Given the description of an element on the screen output the (x, y) to click on. 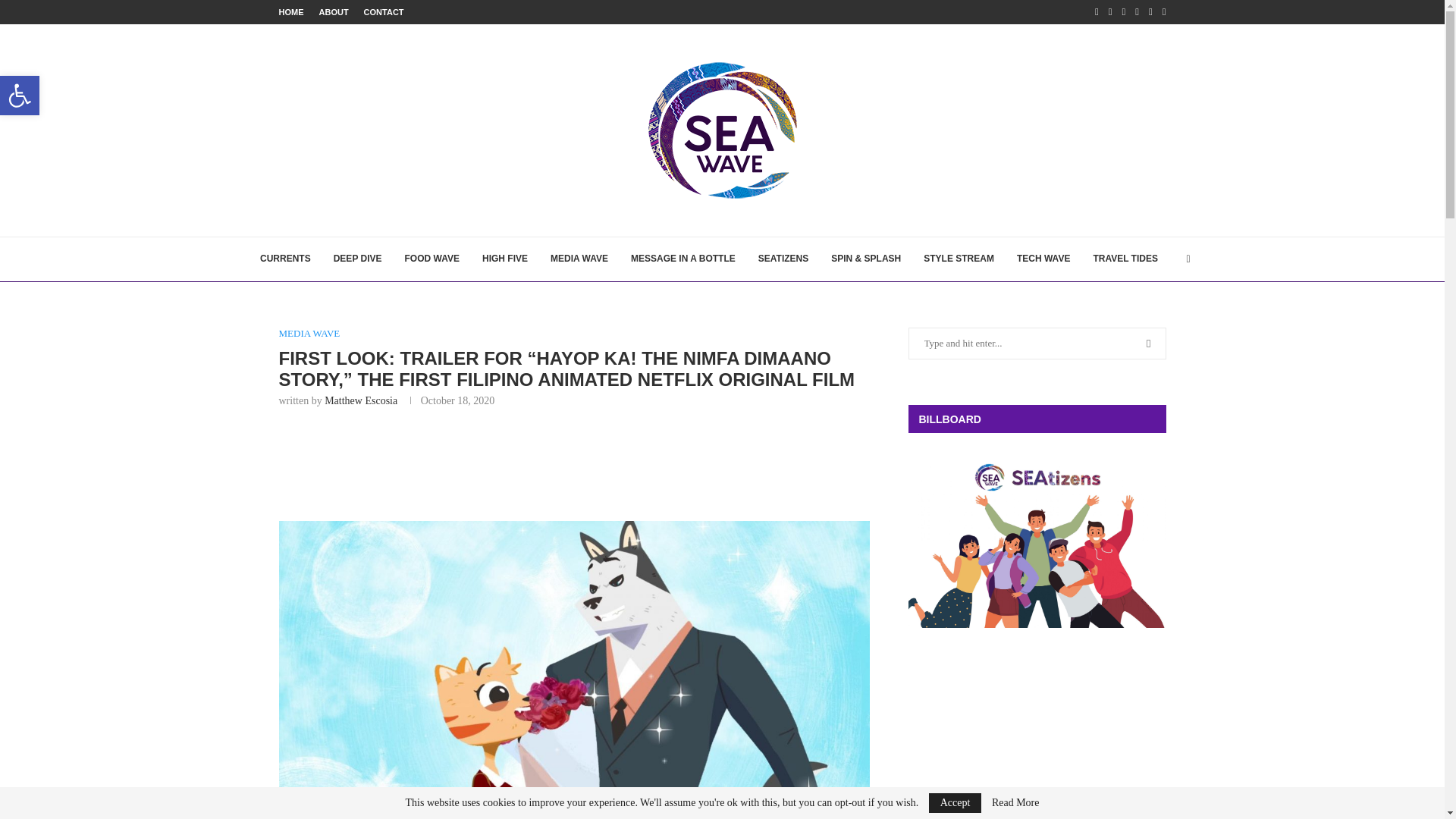
DEEP DIVE (357, 258)
STYLE STREAM (959, 258)
MEDIA WAVE (309, 333)
Entertainment (579, 258)
TECH WAVE (1043, 258)
Matthew Escosia (360, 400)
Accessibility Tools (19, 95)
CURRENTS (284, 258)
Travel and Stroll (1125, 258)
About SeaWave Media (332, 12)
HIGH FIVE (504, 258)
Beauty and Fashion (959, 258)
MESSAGE IN A BOTTLE (683, 258)
Current Events and Trends (284, 258)
